Given the description of an element on the screen output the (x, y) to click on. 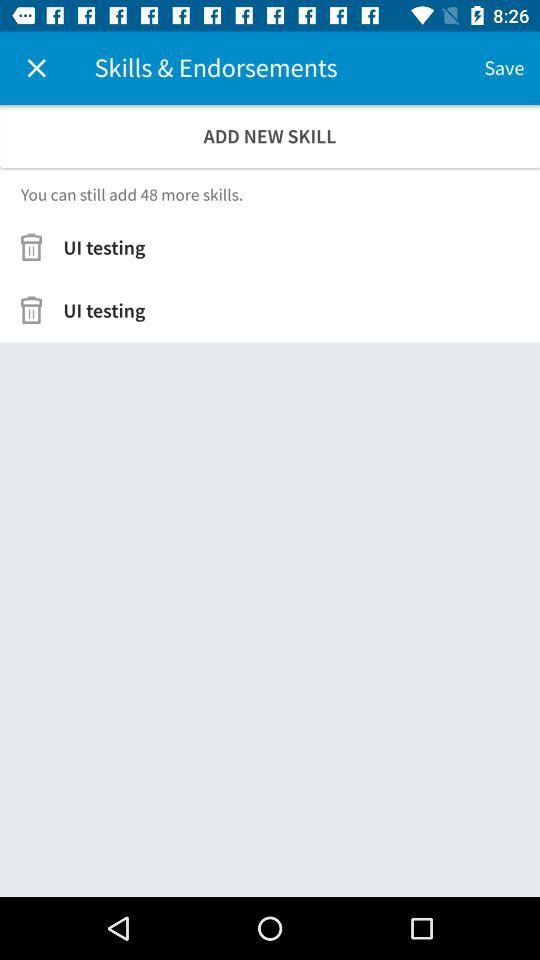
press the icon at the top right corner (504, 67)
